Given the description of an element on the screen output the (x, y) to click on. 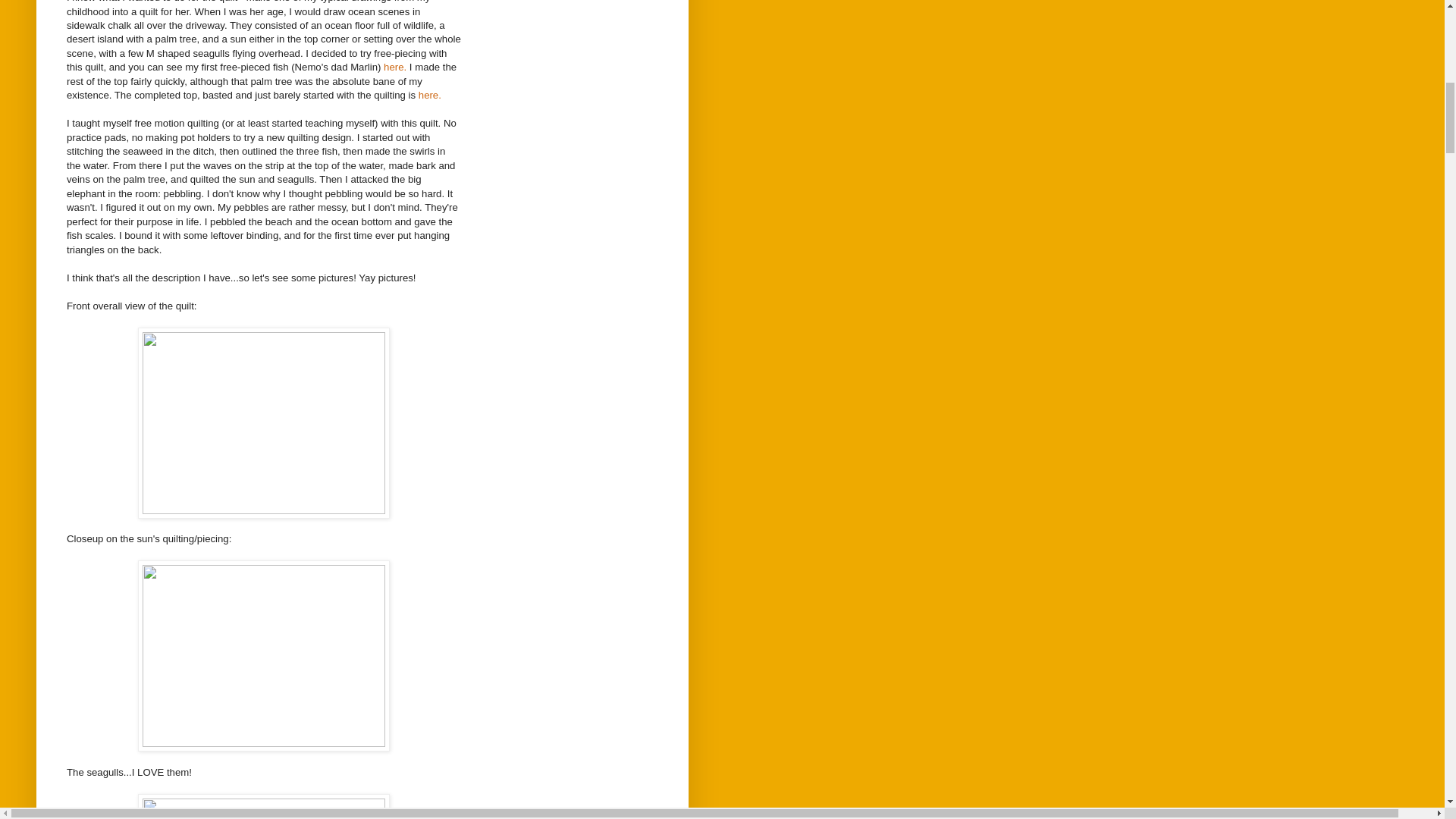
here. (430, 94)
here. (395, 66)
